Given the description of an element on the screen output the (x, y) to click on. 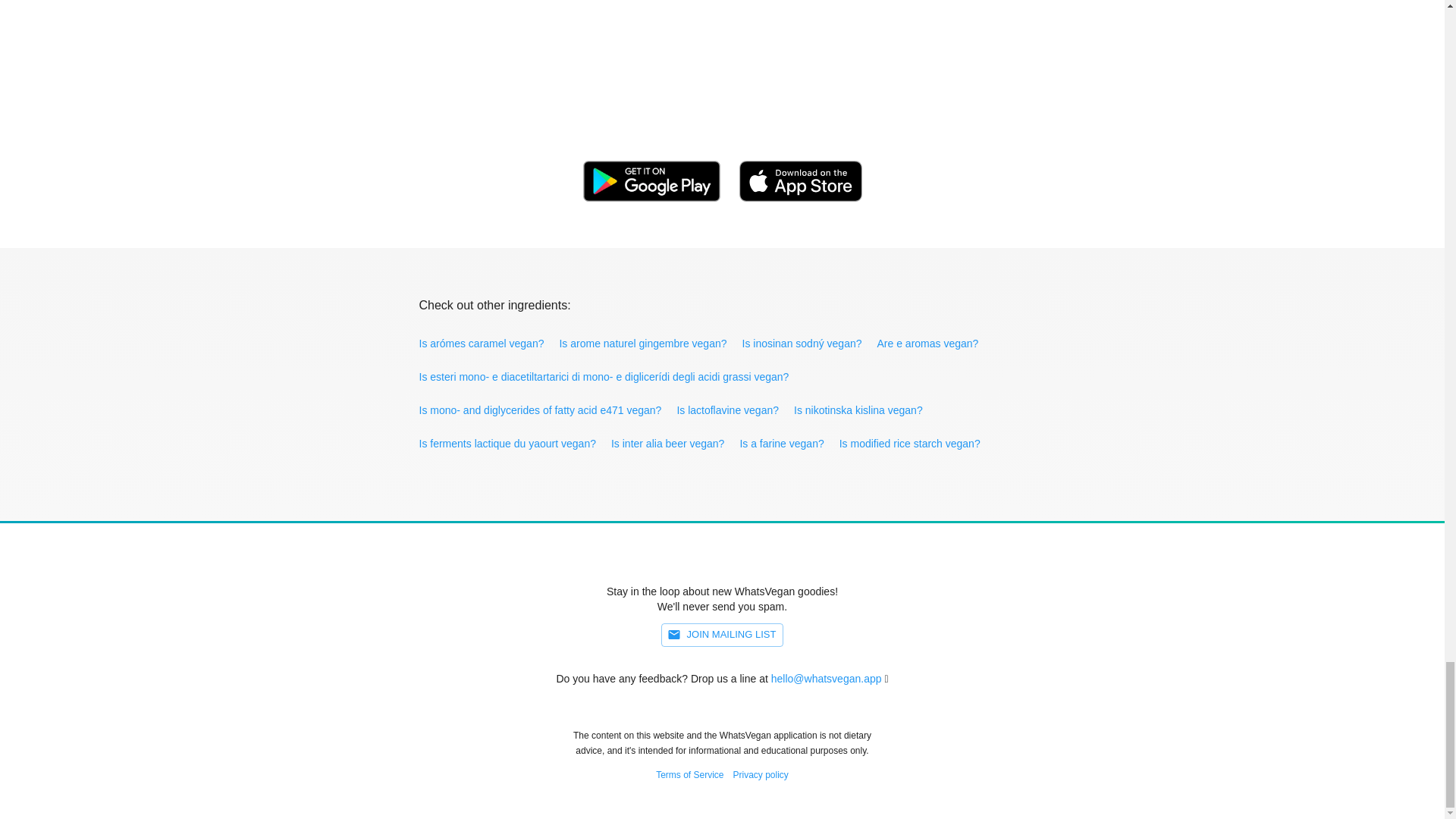
Is modified rice starch vegan? (912, 443)
Are e aromas vegan? (928, 342)
Is mono- and diglycerides of fatty acid e471 vegan? (541, 409)
Is nikotinska kislina vegan? (859, 409)
Is ferments lactique du yaourt vegan? (508, 443)
Is arome naturel gingembre vegan? (644, 342)
Terms of Service (689, 774)
Is ferments lactique du yaourt vegan? (508, 443)
Is inter alia beer vegan? (668, 443)
Is lactoflavine vegan? (729, 409)
